Given the description of an element on the screen output the (x, y) to click on. 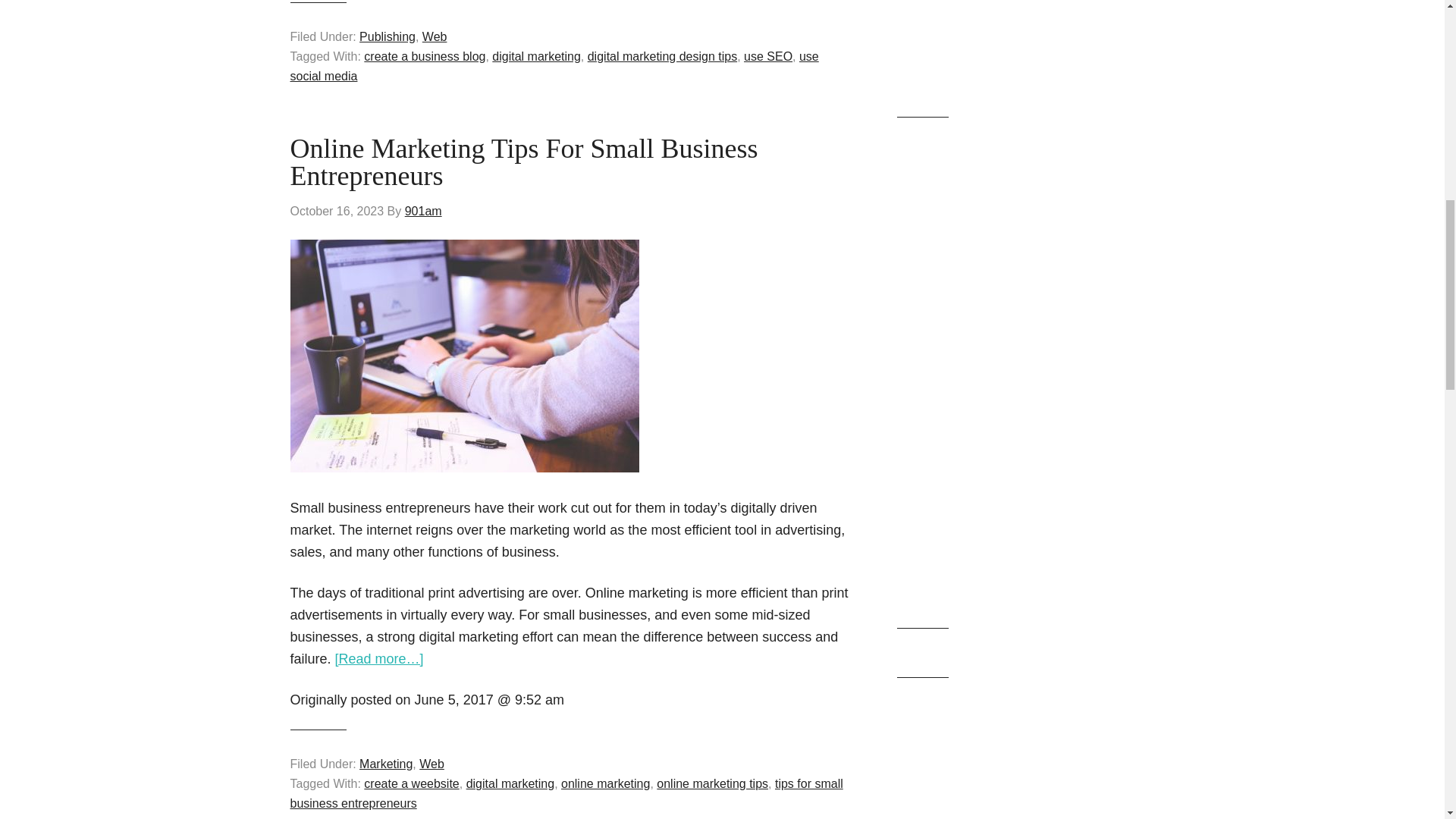
901am (423, 210)
Online Marketing Tips For Small Business Entrepreneurs (523, 161)
online marketing tips (712, 783)
tips for small business entrepreneurs (566, 793)
Web (434, 36)
online marketing (604, 783)
digital marketing design tips (662, 56)
Advertisement (1025, 46)
create a weebsite (411, 783)
Marketing (385, 763)
